Given the description of an element on the screen output the (x, y) to click on. 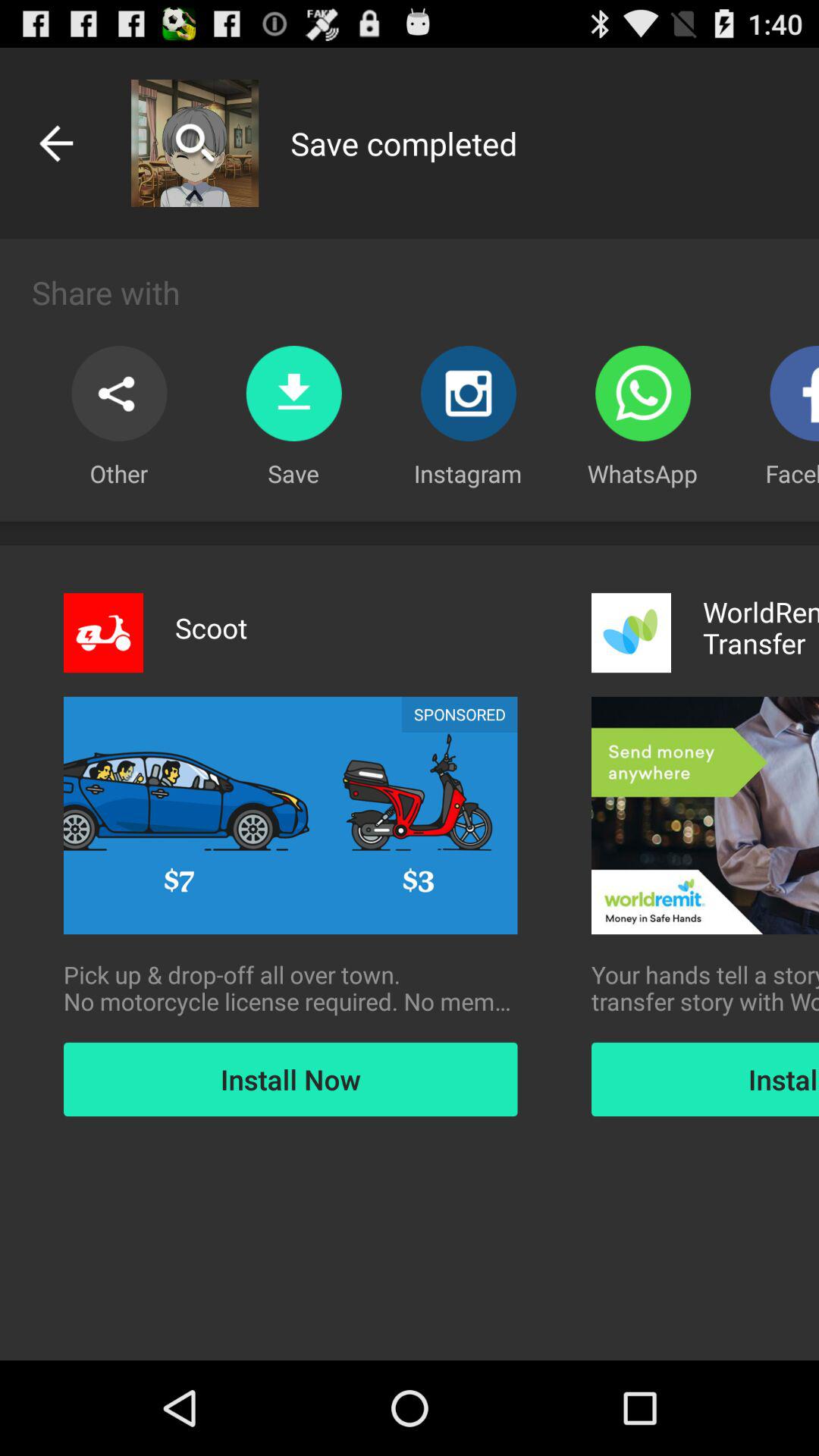
press the your hands tell icon (705, 988)
